Given the description of an element on the screen output the (x, y) to click on. 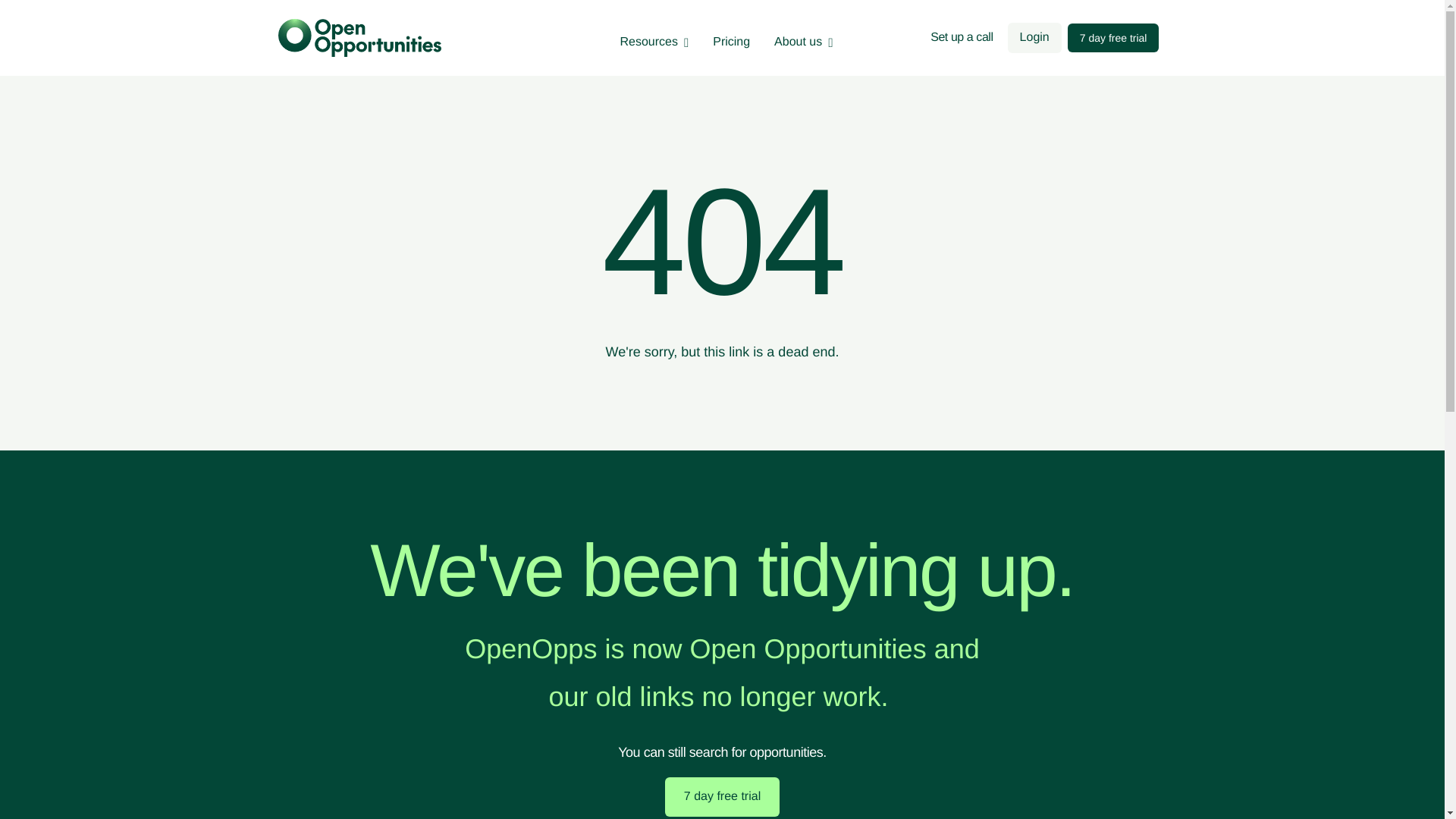
Set up a call (961, 37)
About us (803, 41)
Resources (654, 41)
7 day free trial (1112, 37)
Pricing (731, 42)
7 day free trial (721, 796)
Login (1034, 37)
Oo-logo - Open Opportunities (359, 37)
